Given the description of an element on the screen output the (x, y) to click on. 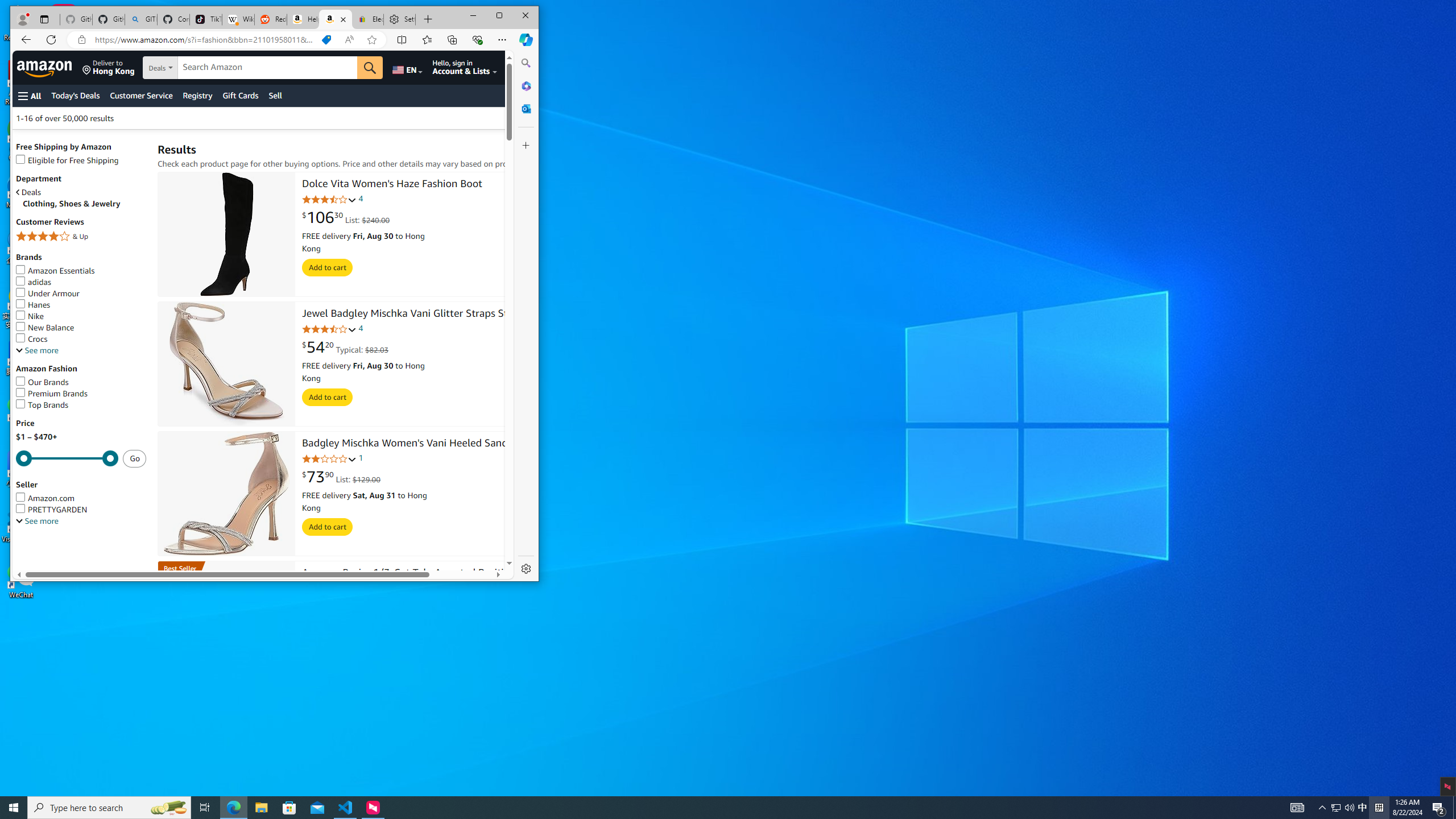
Search Amazon (267, 67)
Skip to main search results (61, 564)
3.5 out of 5 stars (328, 199)
Nike (80, 316)
Amazon Essentials (1335, 807)
Sort by: (55, 270)
Hanes (544, 118)
Hello, sign in Account & Lists (80, 304)
Dolce Vita Women's Haze Fashion Boot (464, 67)
Dolce Vita Women's Haze Fashion Boot (226, 233)
